Given the description of an element on the screen output the (x, y) to click on. 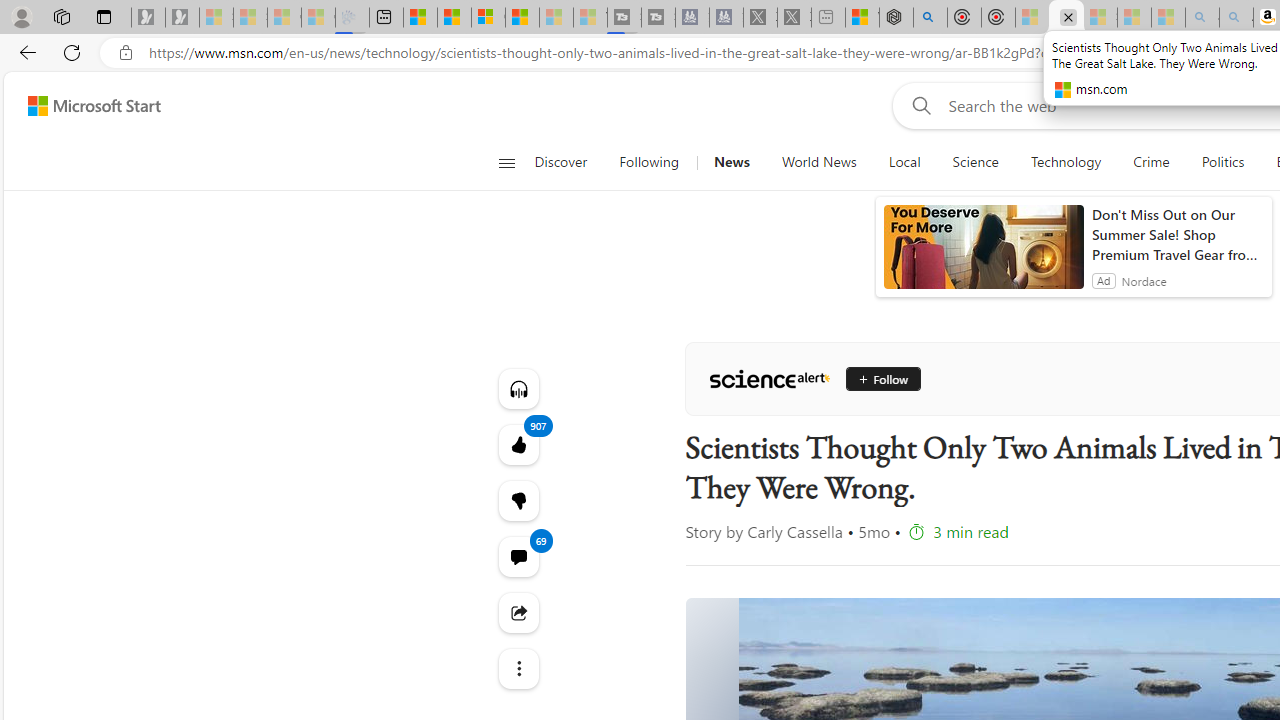
907 Like (517, 444)
Science (975, 162)
amazon - Search - Sleeping (1202, 17)
Open navigation menu (506, 162)
